Given the description of an element on the screen output the (x, y) to click on. 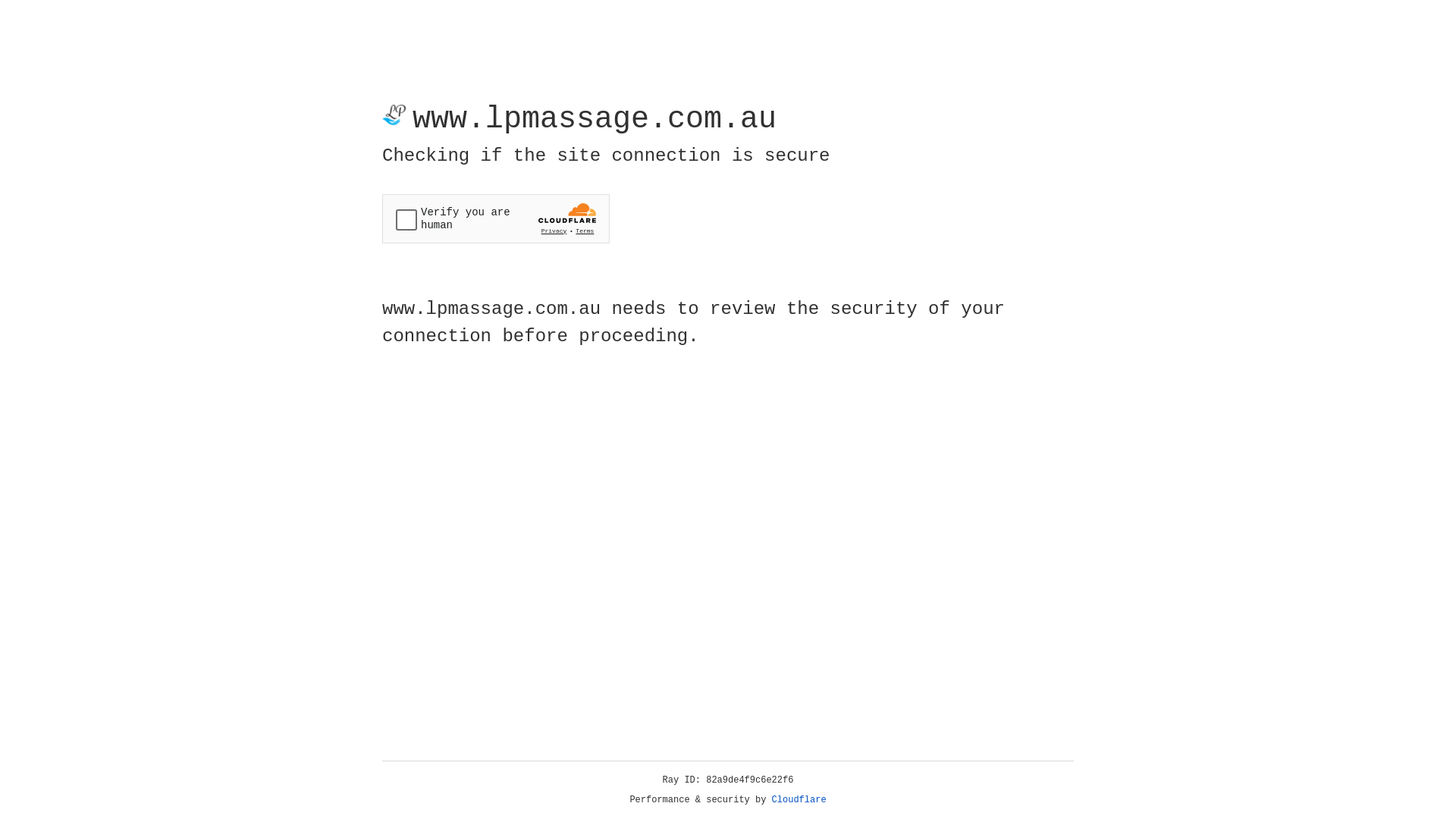
Cloudflare Element type: text (798, 799)
Widget containing a Cloudflare security challenge Element type: hover (495, 218)
